Given the description of an element on the screen output the (x, y) to click on. 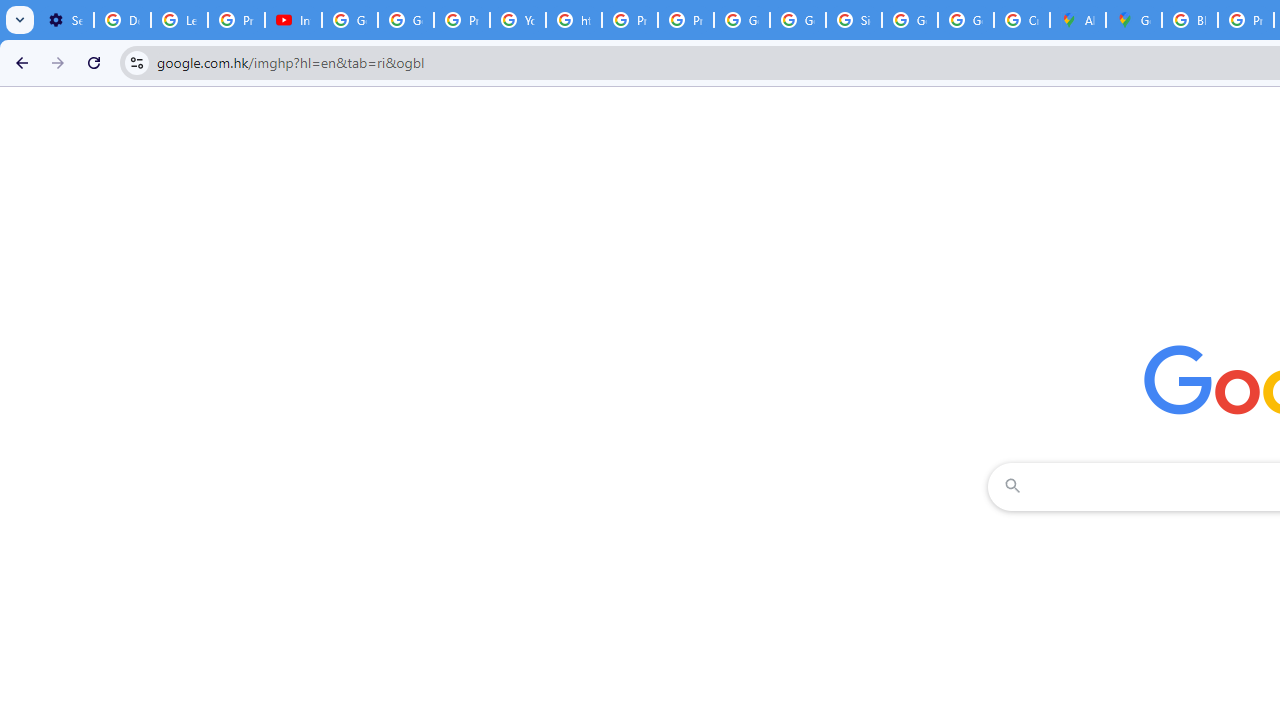
Blogger Policies and Guidelines - Transparency Center (1190, 20)
Privacy Help Center - Policies Help (461, 20)
Sign in - Google Accounts (853, 20)
Settings - Customize profile (65, 20)
Create your Google Account (1021, 20)
Google Account Help (349, 20)
